Given the description of an element on the screen output the (x, y) to click on. 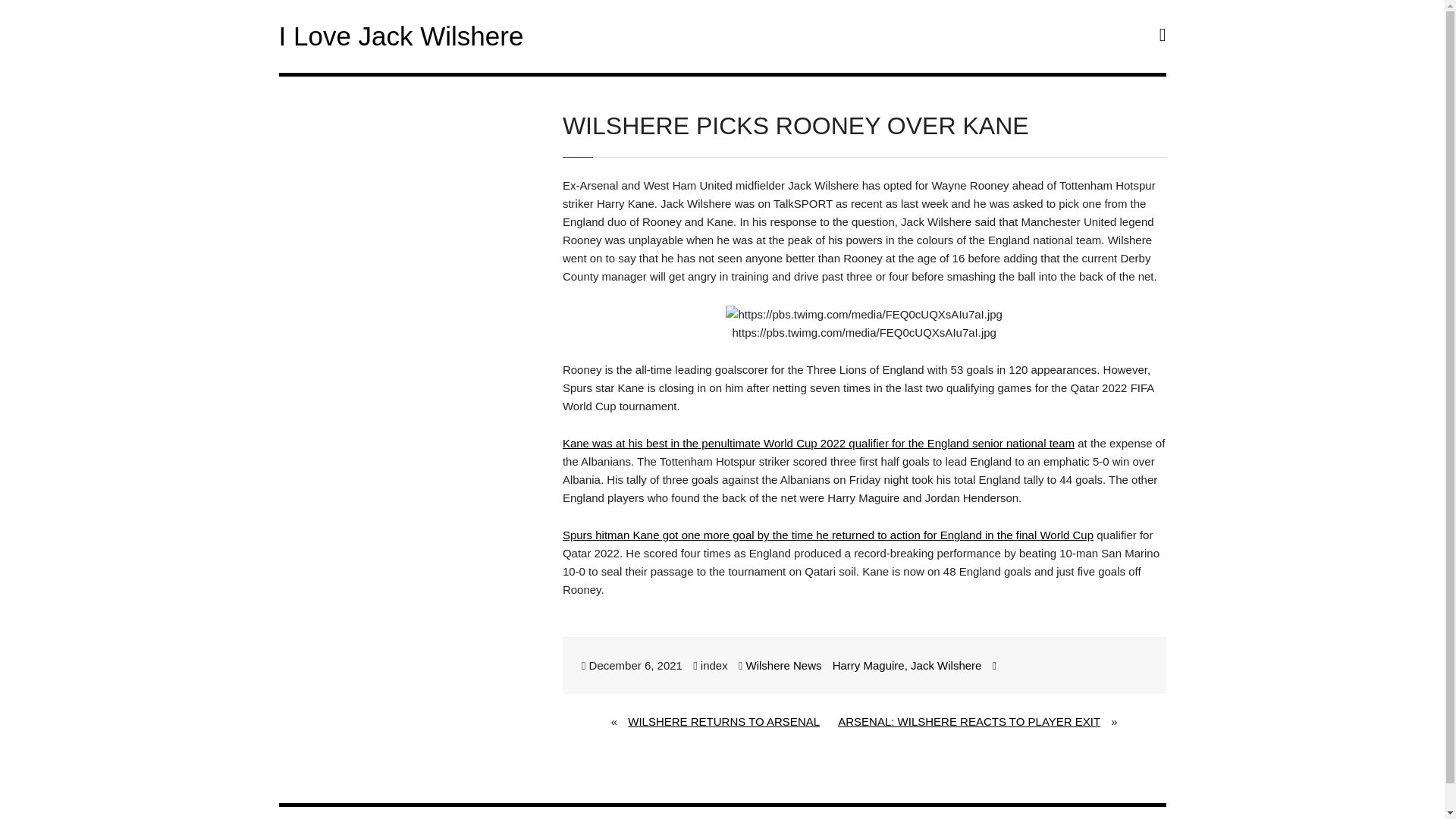
I Love Jack Wilshere (401, 35)
Harry Maguire (868, 665)
WILSHERE RETURNS TO ARSENAL (723, 721)
Wilshere News (783, 665)
Jack Wilshere (946, 665)
ARSENAL: WILSHERE REACTS TO PLAYER EXIT (969, 721)
